Given the description of an element on the screen output the (x, y) to click on. 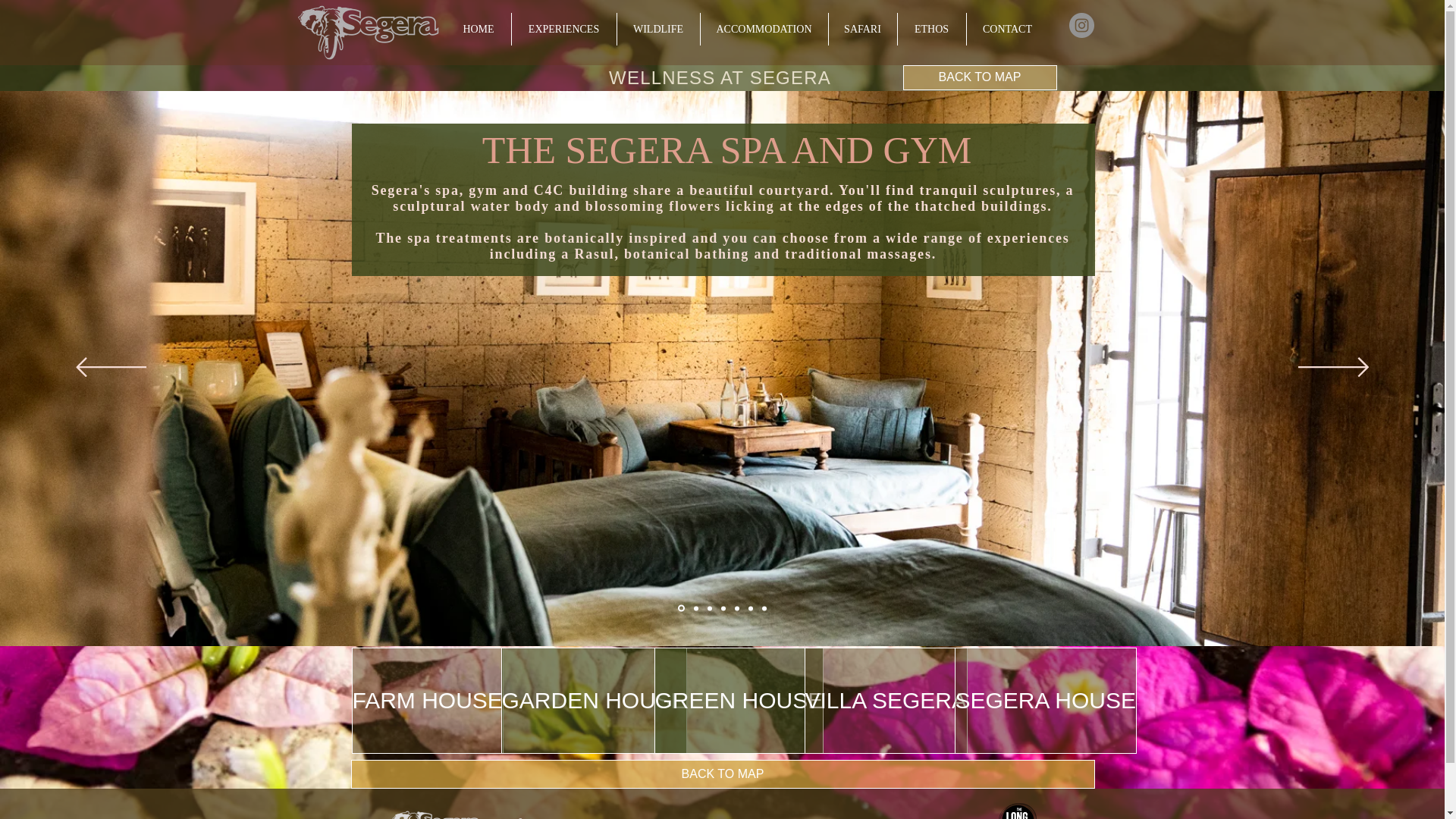
ETHOS (932, 29)
BACK TO MAP (722, 774)
FARM HOUSE (427, 700)
HOME (478, 29)
CONTACT (1007, 29)
BACK TO MAP (979, 77)
WILDLIFE (658, 29)
ACCOMMODATION (764, 29)
SAFARI (862, 29)
GARDEN HOUSE (592, 700)
